Given the description of an element on the screen output the (x, y) to click on. 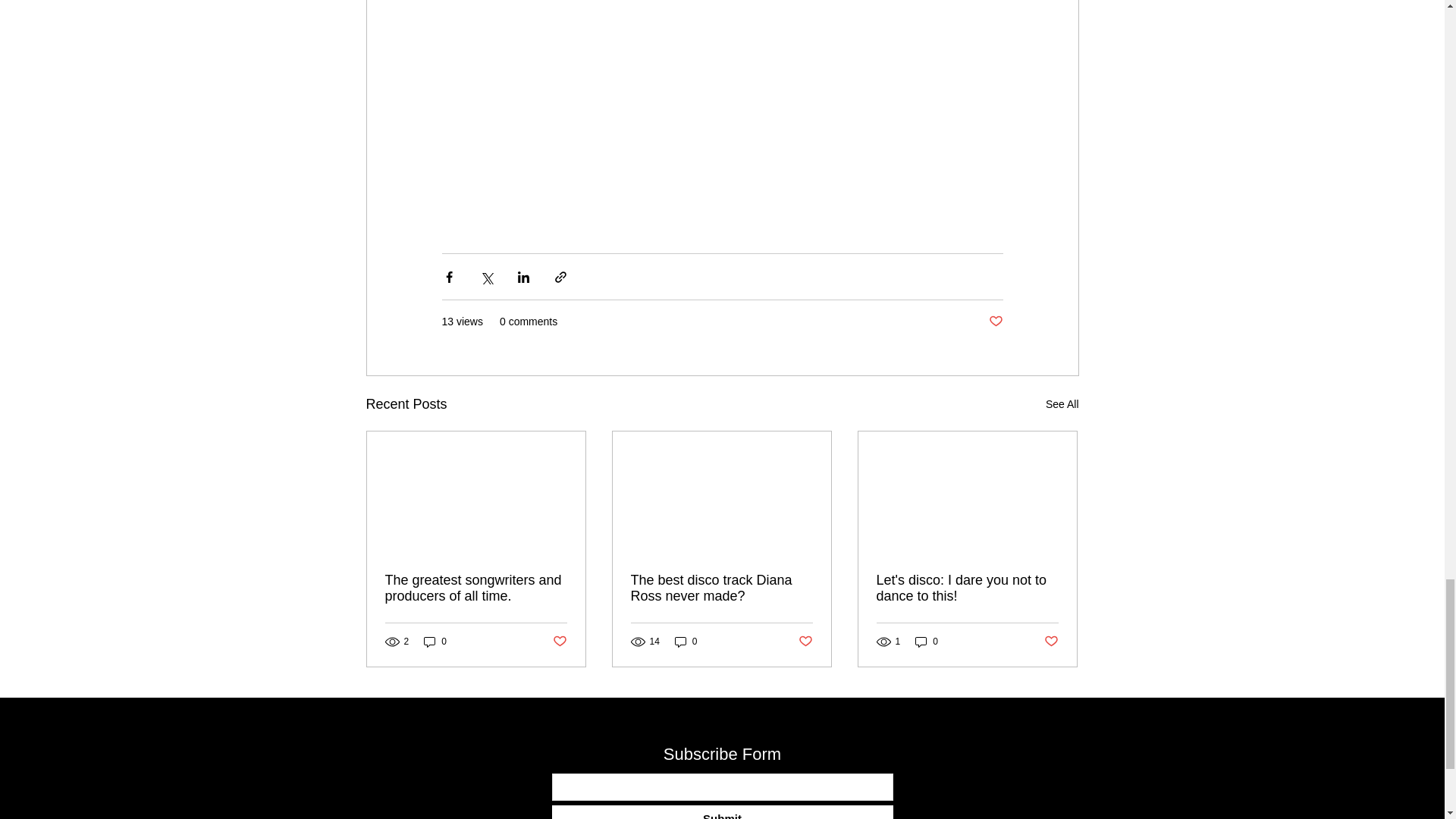
Submit (722, 812)
0 (926, 641)
0 (435, 641)
Post not marked as liked (995, 321)
The greatest songwriters and producers of all time. (476, 588)
Post not marked as liked (804, 641)
0 (685, 641)
See All (1061, 404)
The best disco track Diana Ross never made? (721, 588)
Let's disco: I dare you not to dance to this! (967, 588)
